Given the description of an element on the screen output the (x, y) to click on. 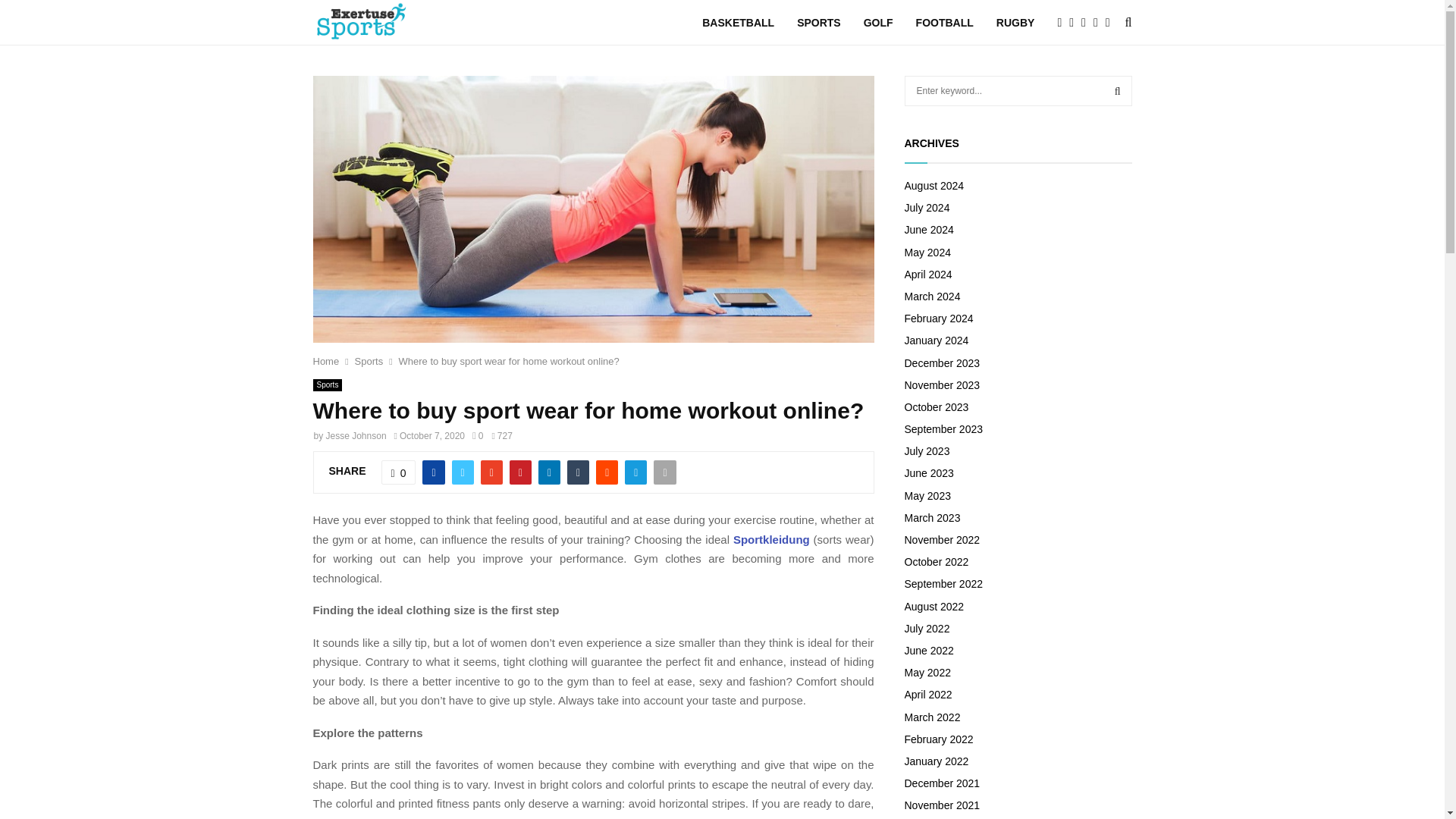
0 (398, 471)
Jesse Johnson (356, 435)
Sports (327, 385)
0 (477, 435)
BASKETBALL (737, 22)
Sports (369, 360)
Home (326, 360)
SPORTS (818, 22)
Where to buy sport wear for home workout online? (509, 360)
Sportkleidung (771, 538)
